Given the description of an element on the screen output the (x, y) to click on. 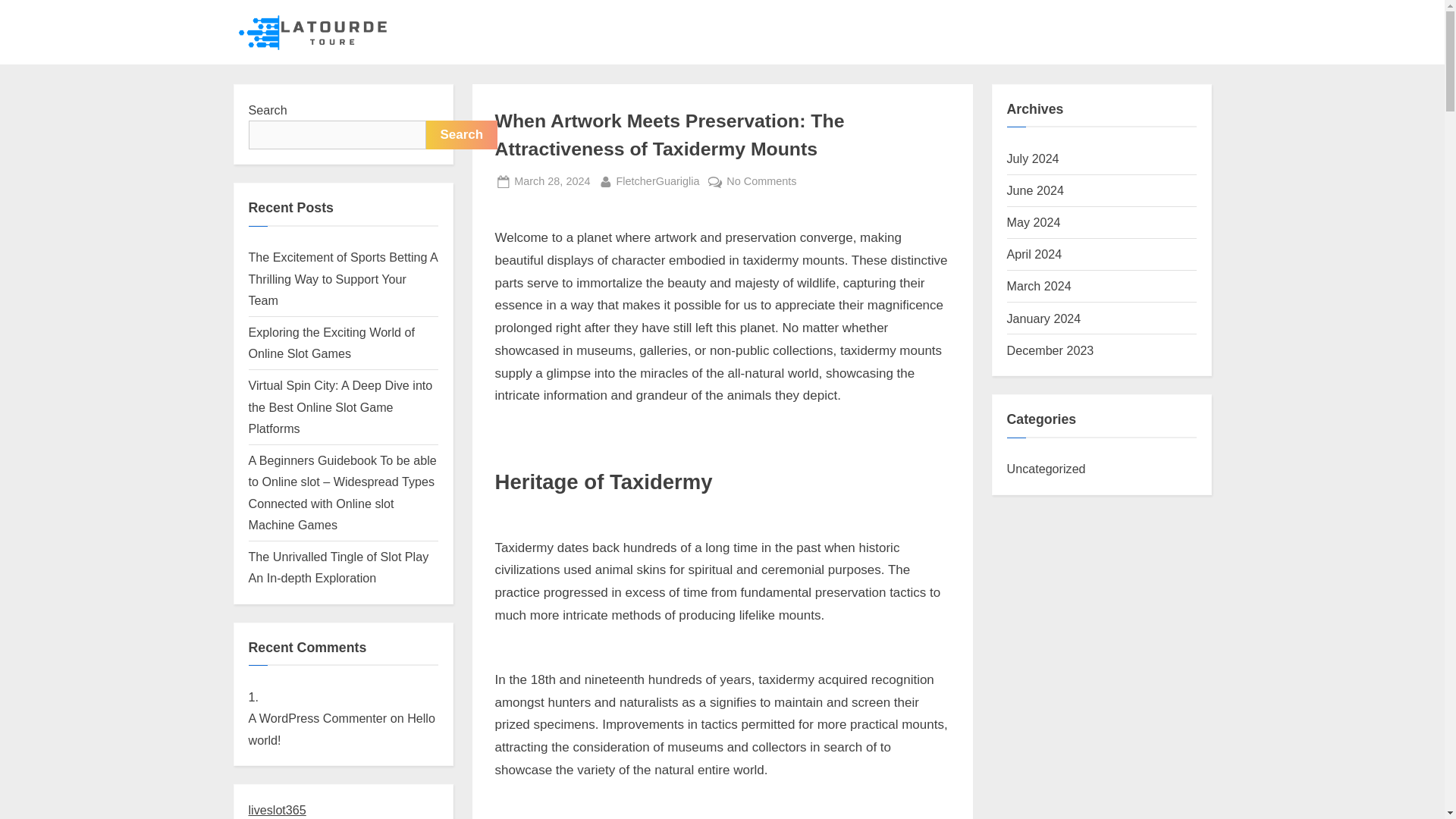
latourdetoure (446, 44)
Search (461, 134)
Exploring the Exciting World of Online Slot Games (657, 180)
liveslot365 (551, 180)
The Unrivalled Tingle of Slot Play An In-depth Exploration (331, 342)
Hello world! (276, 809)
A WordPress Commenter (338, 566)
